Given the description of an element on the screen output the (x, y) to click on. 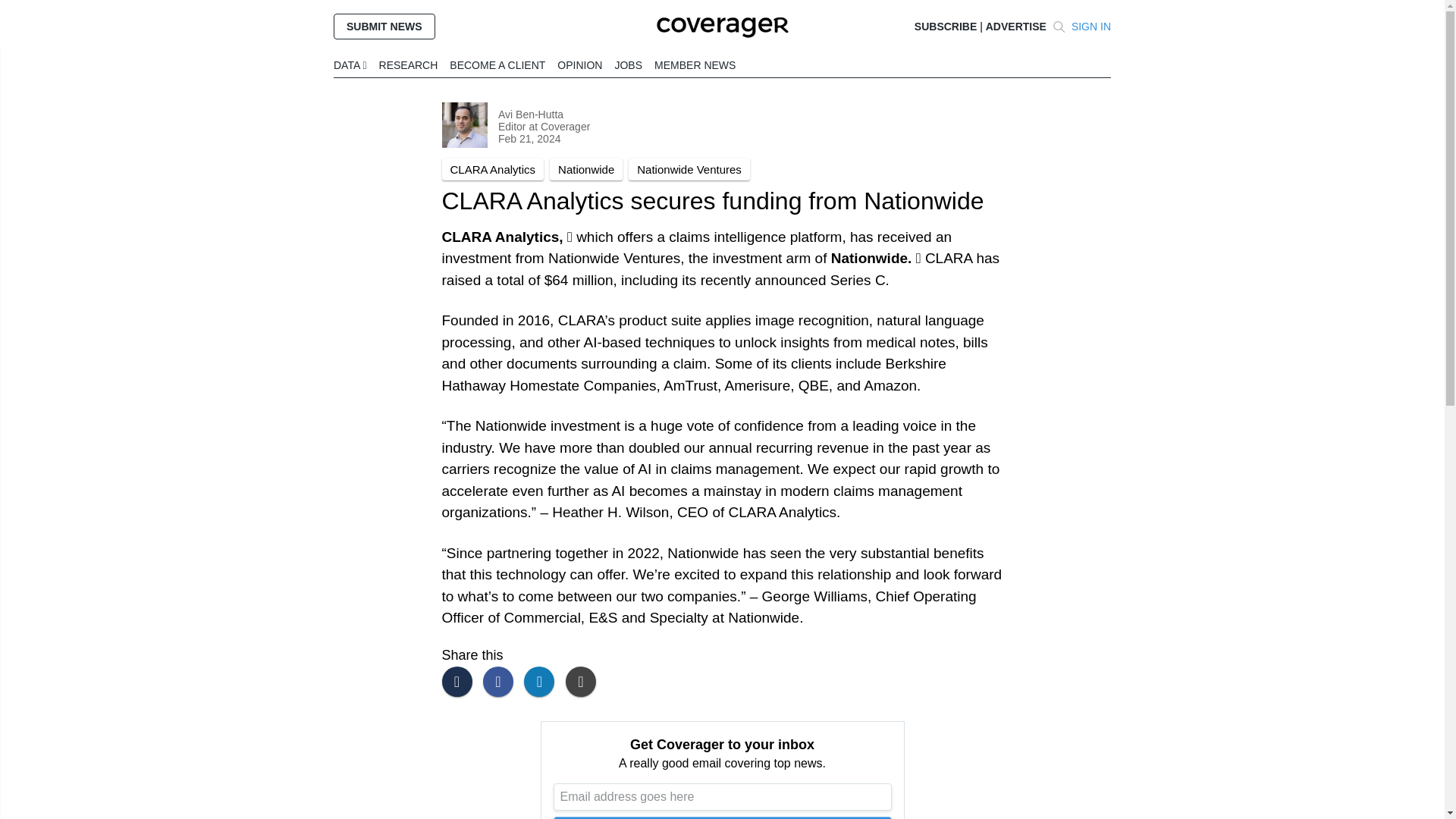
RESEARCH (408, 64)
JOBS (628, 64)
BECOME A CLIENT (496, 64)
OPINION (579, 64)
Share on Facebook (502, 682)
SUBSCRIBE (945, 26)
MEMBER NEWS (694, 64)
ADVERTISE (1015, 26)
Share on Linkedin (543, 682)
SIGN IN (1090, 26)
Share on X (460, 682)
DATA (349, 64)
Share via Email (585, 682)
SUBMIT NEWS (384, 26)
